Given the description of an element on the screen output the (x, y) to click on. 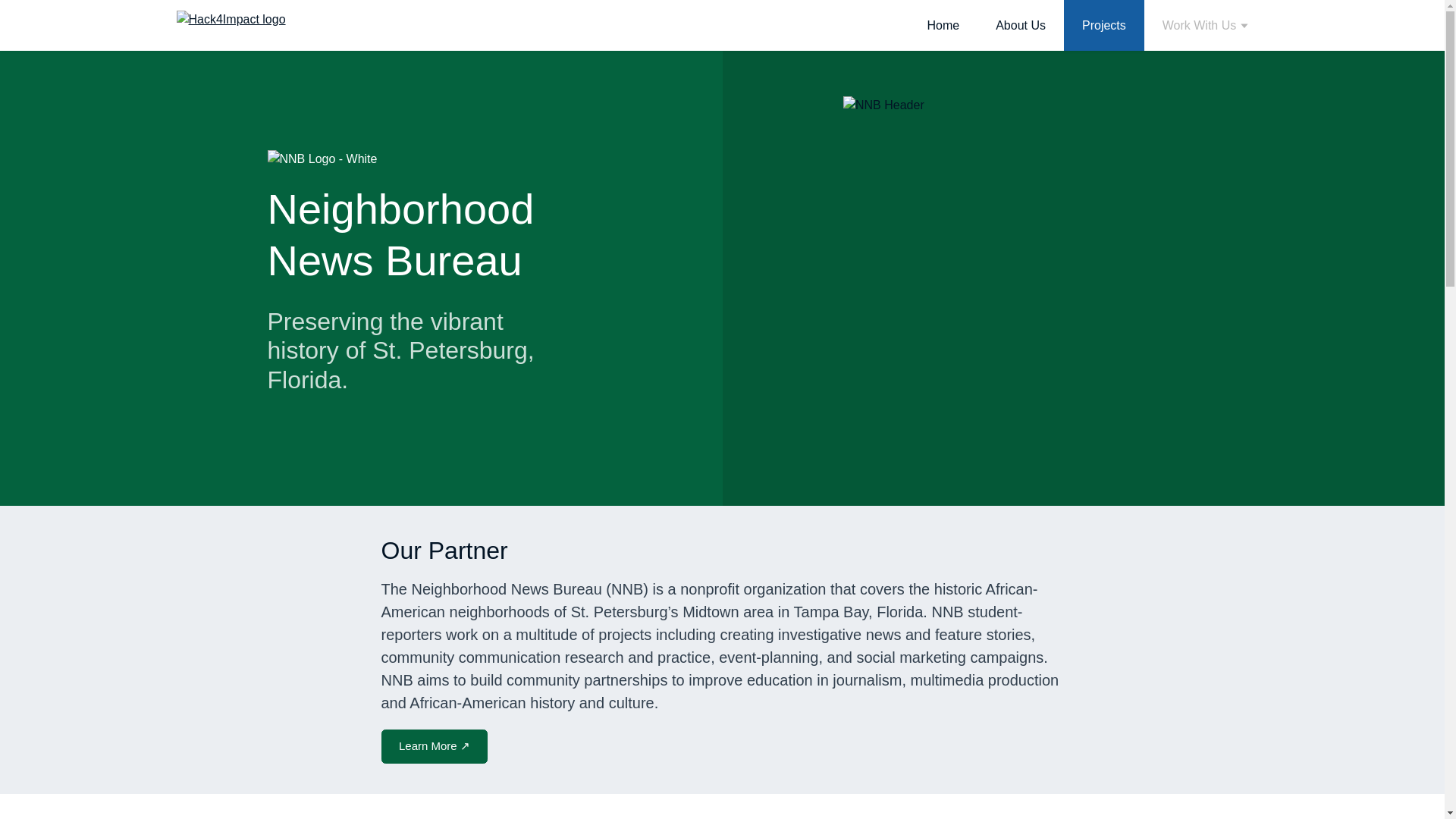
Home (942, 25)
About Us (1020, 25)
Skip to content (42, 20)
Projects (1104, 25)
